Given the description of an element on the screen output the (x, y) to click on. 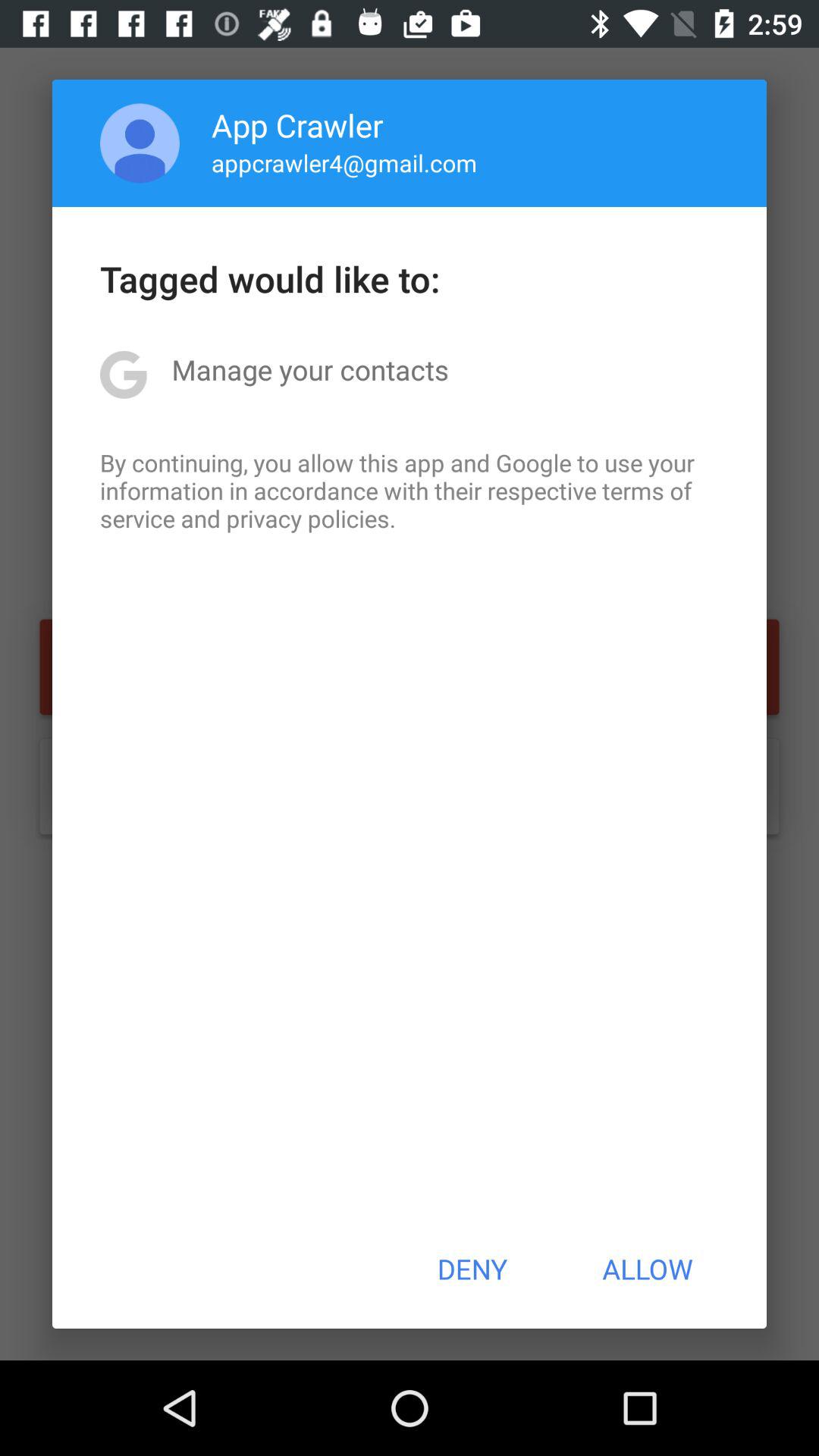
open the icon next to the allow icon (471, 1268)
